Given the description of an element on the screen output the (x, y) to click on. 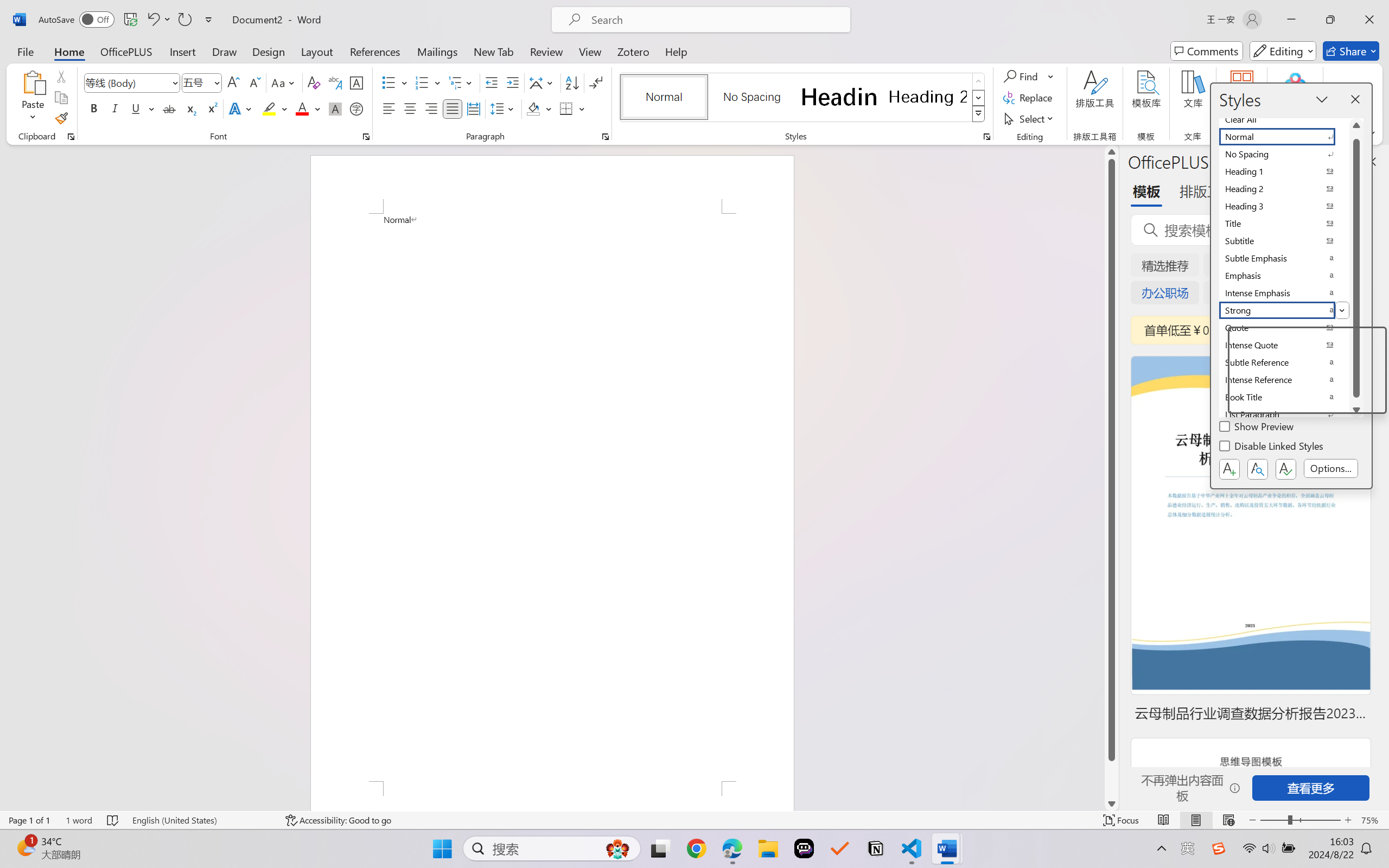
Book Title (1283, 397)
Heading 2 (927, 96)
Comments (1206, 50)
Paragraph... (605, 136)
Show Preview (1257, 428)
Row Down (978, 97)
Office Clipboard... (70, 136)
Sort... (571, 82)
Heading 3 (1283, 206)
Asian Layout (542, 82)
Emphasis (1283, 275)
Clear All (1283, 119)
Mailings (437, 51)
References (375, 51)
